Given the description of an element on the screen output the (x, y) to click on. 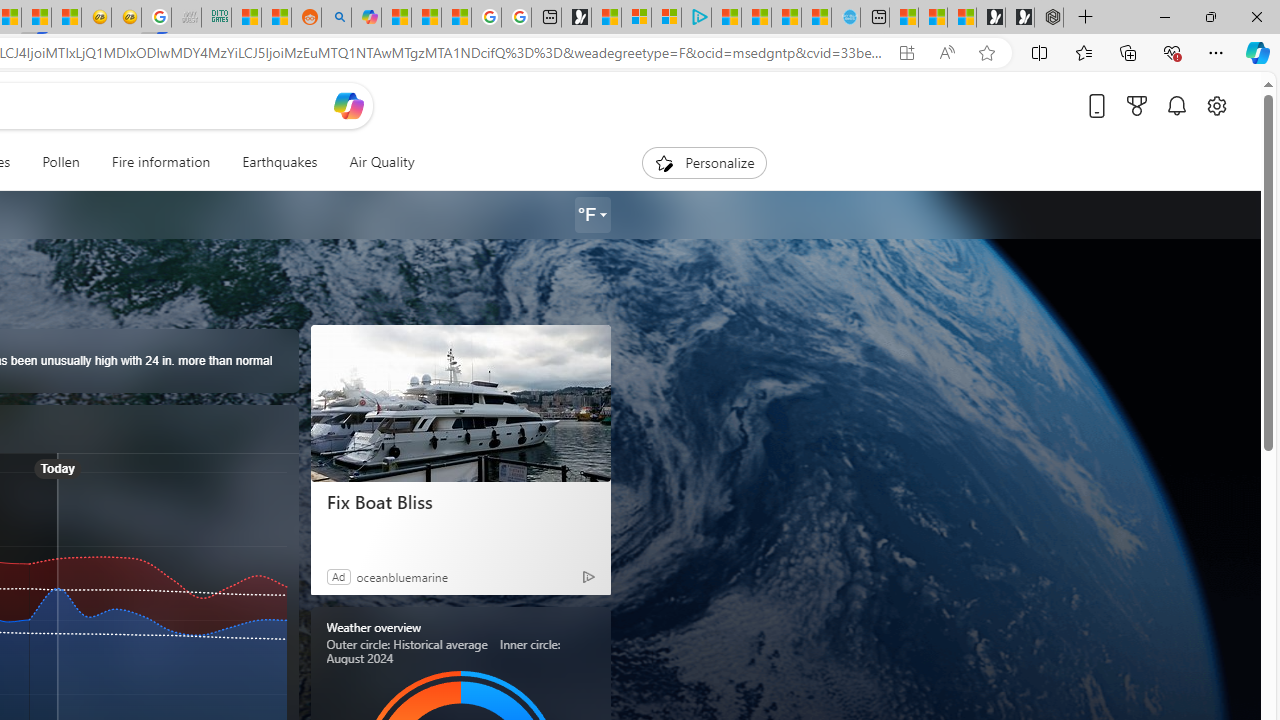
Fire information (161, 162)
Earthquakes (279, 162)
Fire information (160, 162)
Air Quality (373, 162)
Fix Boat Bliss (460, 502)
